Given the description of an element on the screen output the (x, y) to click on. 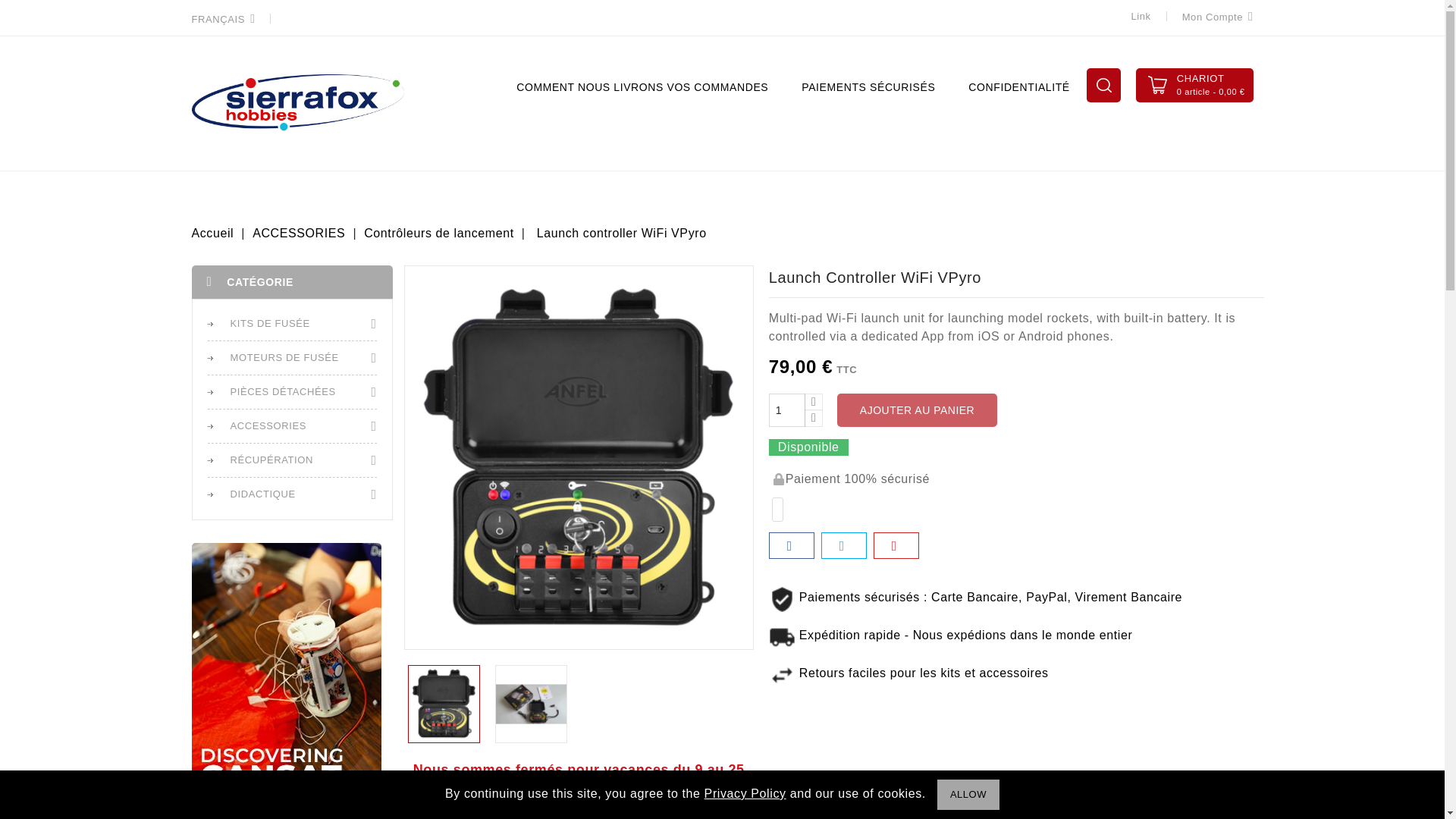
COMMENT NOUS LIVRONS VOS COMMANDES (641, 87)
Link (1140, 16)
ACCESSORIES (300, 232)
Partager (791, 545)
Accueil (213, 232)
Launch controller WiFi VPyro (621, 232)
1 (786, 409)
Tweet (844, 545)
Pinterest (896, 545)
Link (1140, 16)
